Given the description of an element on the screen output the (x, y) to click on. 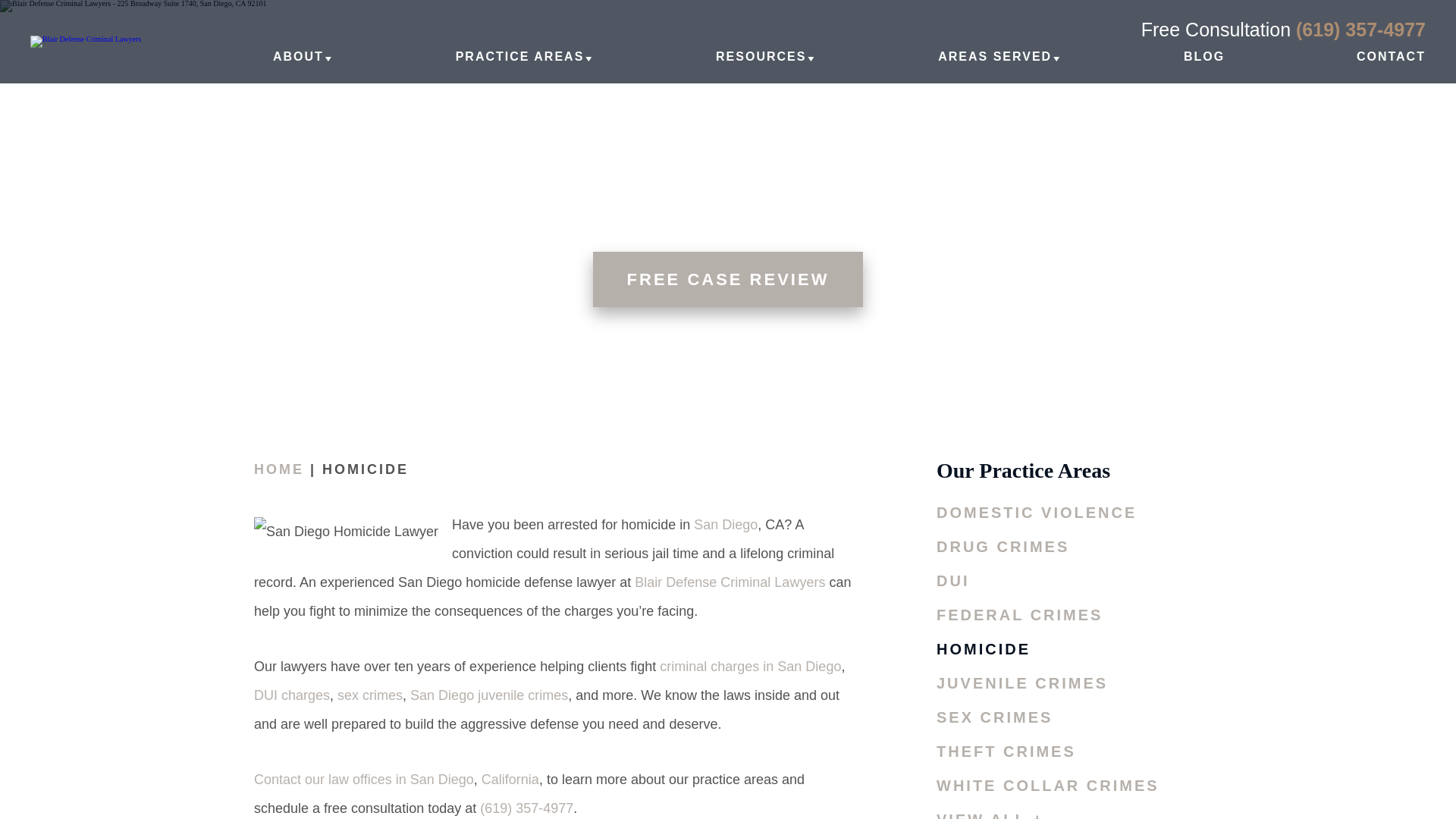
FREE CASE REVIEW (727, 279)
AREAS SERVED (994, 65)
Contact our law offices in San Diego (363, 780)
San Diego (725, 525)
criminal charges in San Diego (750, 667)
RESOURCES (761, 65)
PRACTICE AREAS (520, 65)
BLOG (1203, 65)
California (509, 780)
DUI charges (291, 696)
